Given the description of an element on the screen output the (x, y) to click on. 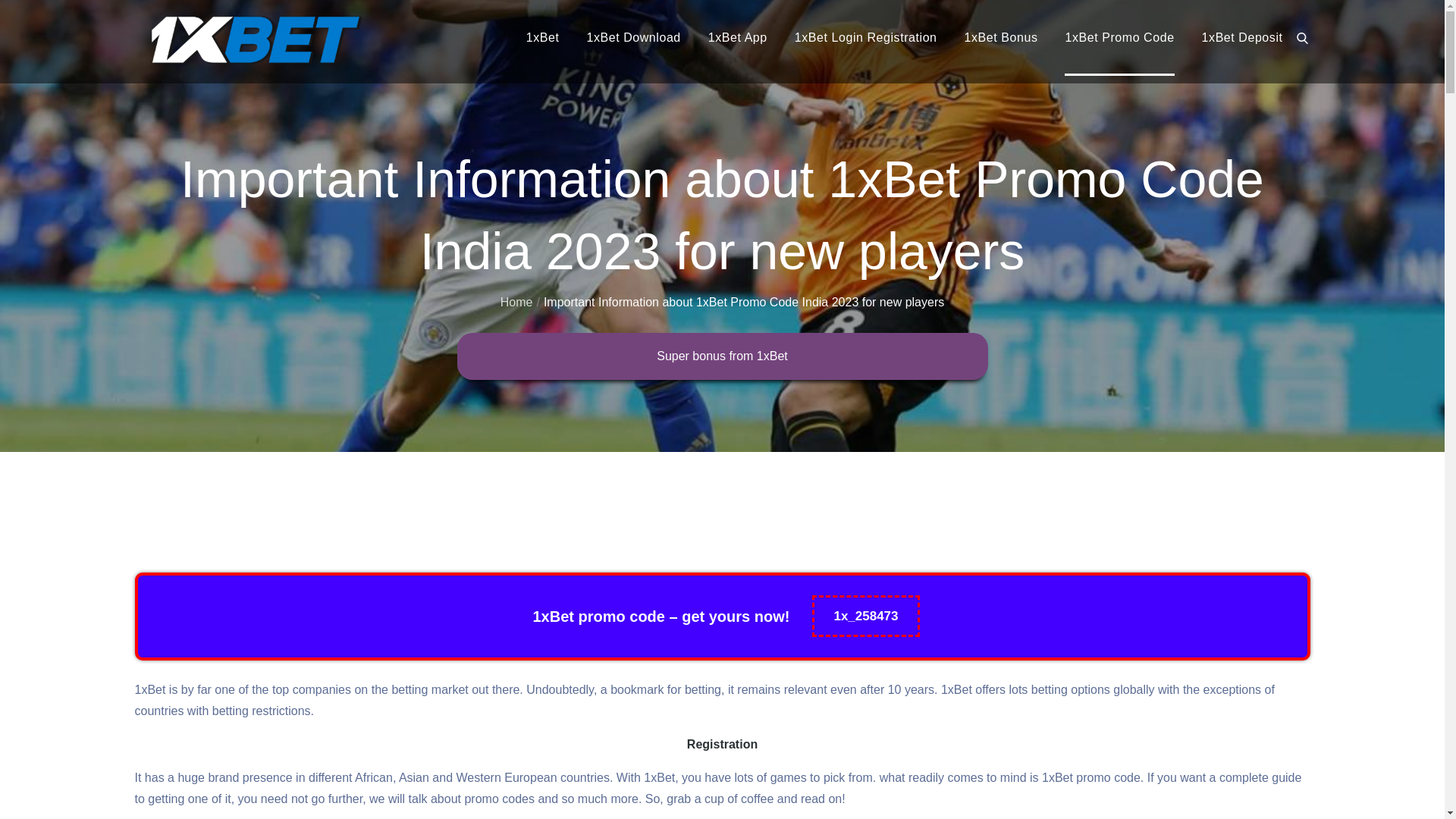
1xBet App Element type: text (737, 37)
1xBet Element type: text (542, 37)
Super bonus from 1xBet Element type: text (721, 355)
Home Element type: text (16, 466)
1xBet Download Element type: text (633, 37)
Registration Element type: text (722, 743)
1xBet Login Registration Element type: text (865, 37)
Skip to content Element type: text (0, 0)
1xBet Promo Code Element type: text (1118, 37)
Home Element type: text (516, 301)
1xBet Deposit Element type: text (1242, 37)
1xBet Bonus Element type: text (1001, 37)
